Given the description of an element on the screen output the (x, y) to click on. 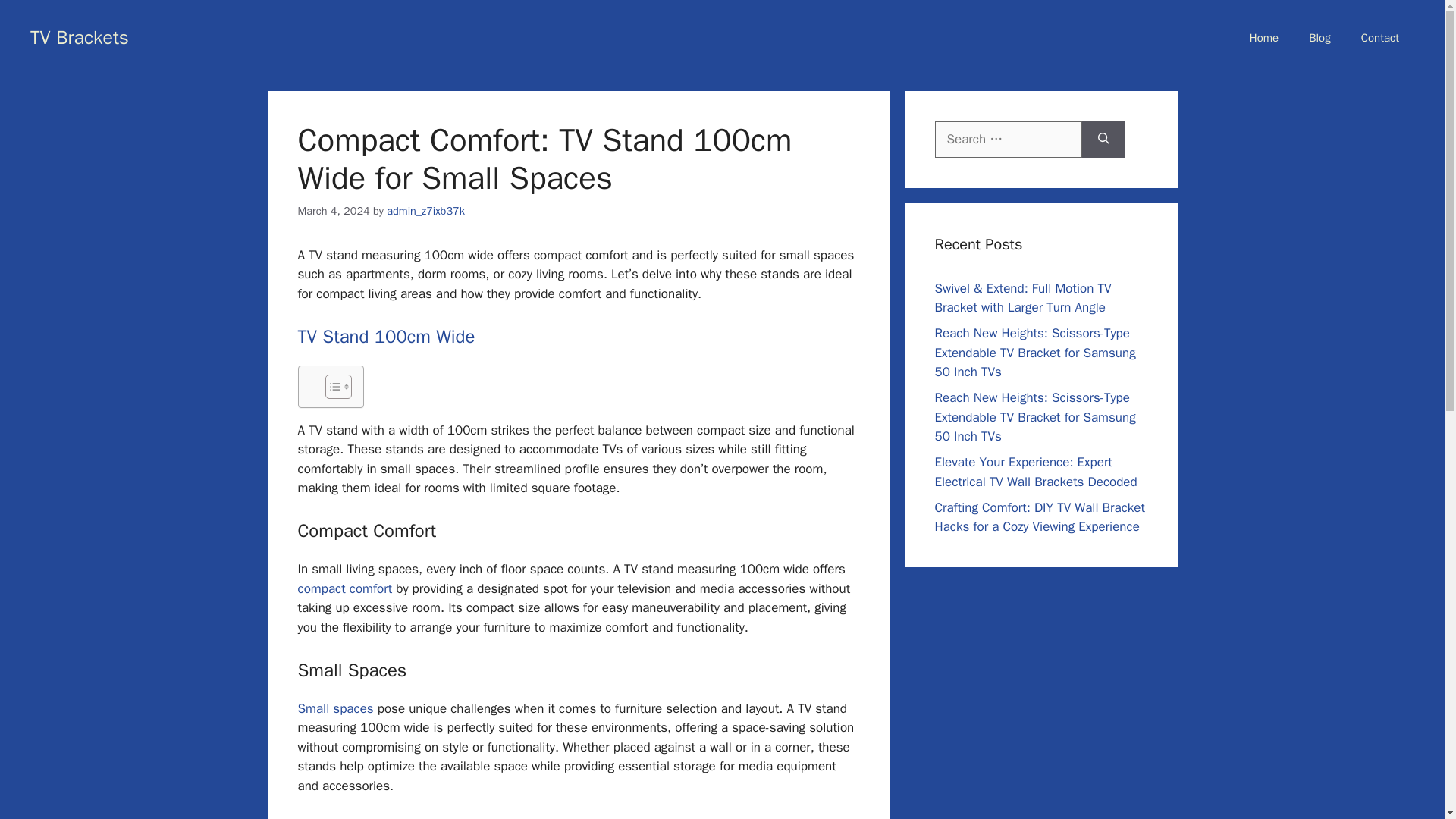
Small spaces (334, 708)
compact comfort (344, 588)
Blog (1319, 37)
TV Stand 100cm Wide (385, 336)
Search for: (1007, 139)
Home (1264, 37)
Contact (1379, 37)
TV Brackets (79, 37)
